Given the description of an element on the screen output the (x, y) to click on. 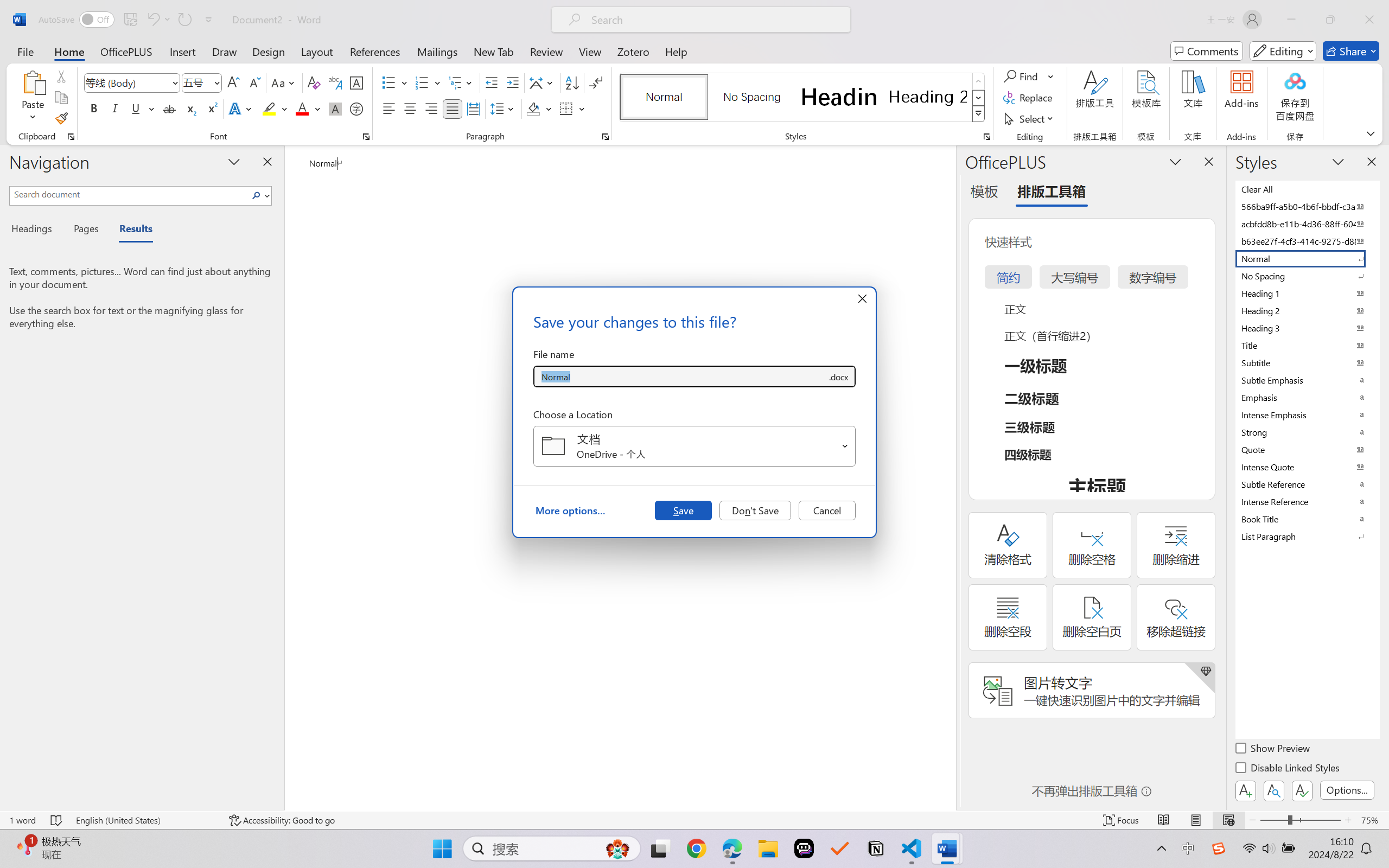
Google Chrome (696, 848)
Bold (94, 108)
Task Pane Options (1175, 161)
Undo Apply Quick Style (158, 19)
Heading 2 (927, 96)
Copy (60, 97)
Repeat Style (184, 19)
Mailings (437, 51)
Heading 1 (839, 96)
